Given the description of an element on the screen output the (x, y) to click on. 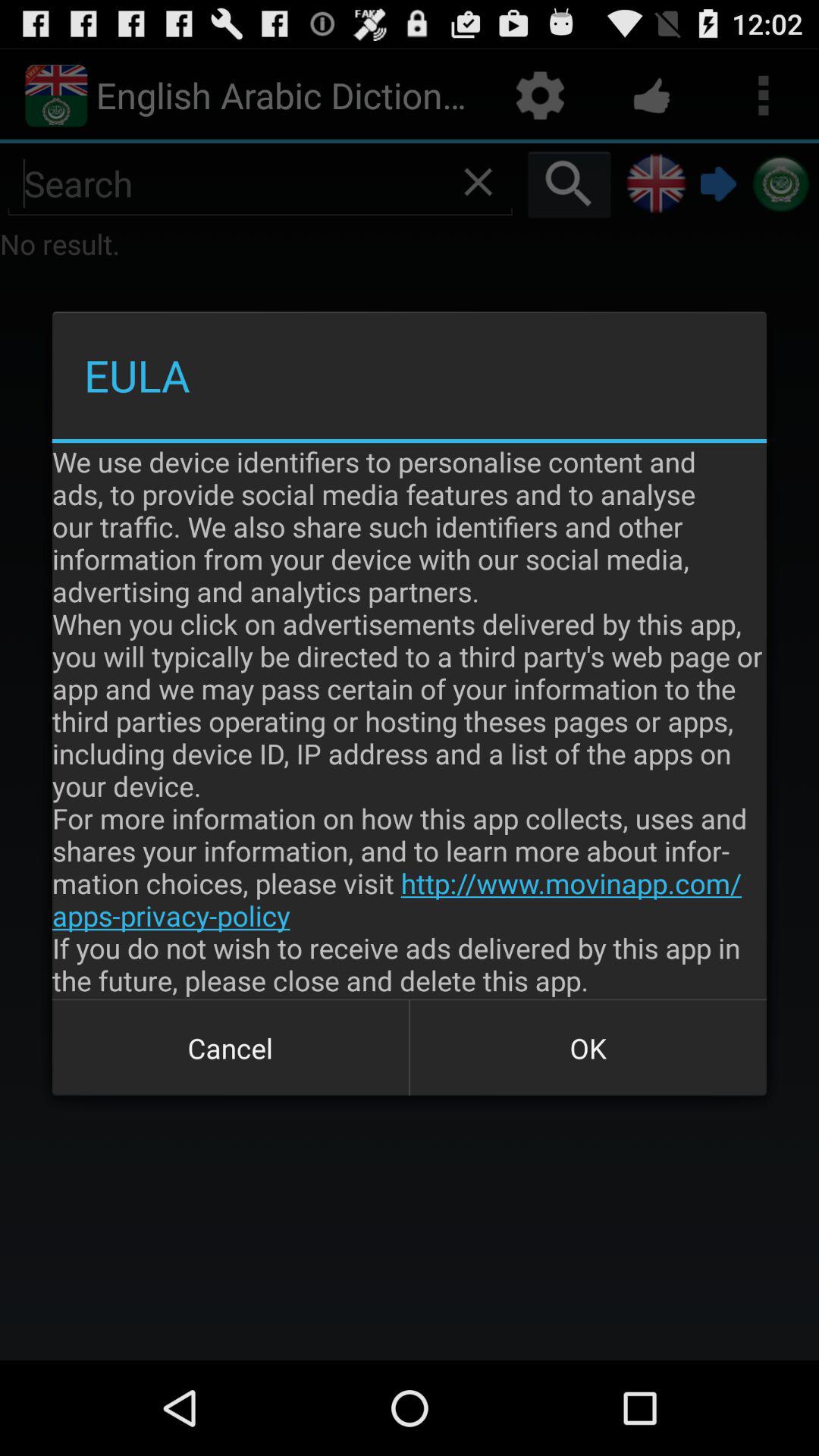
press the icon below the we use device icon (230, 1047)
